Given the description of an element on the screen output the (x, y) to click on. 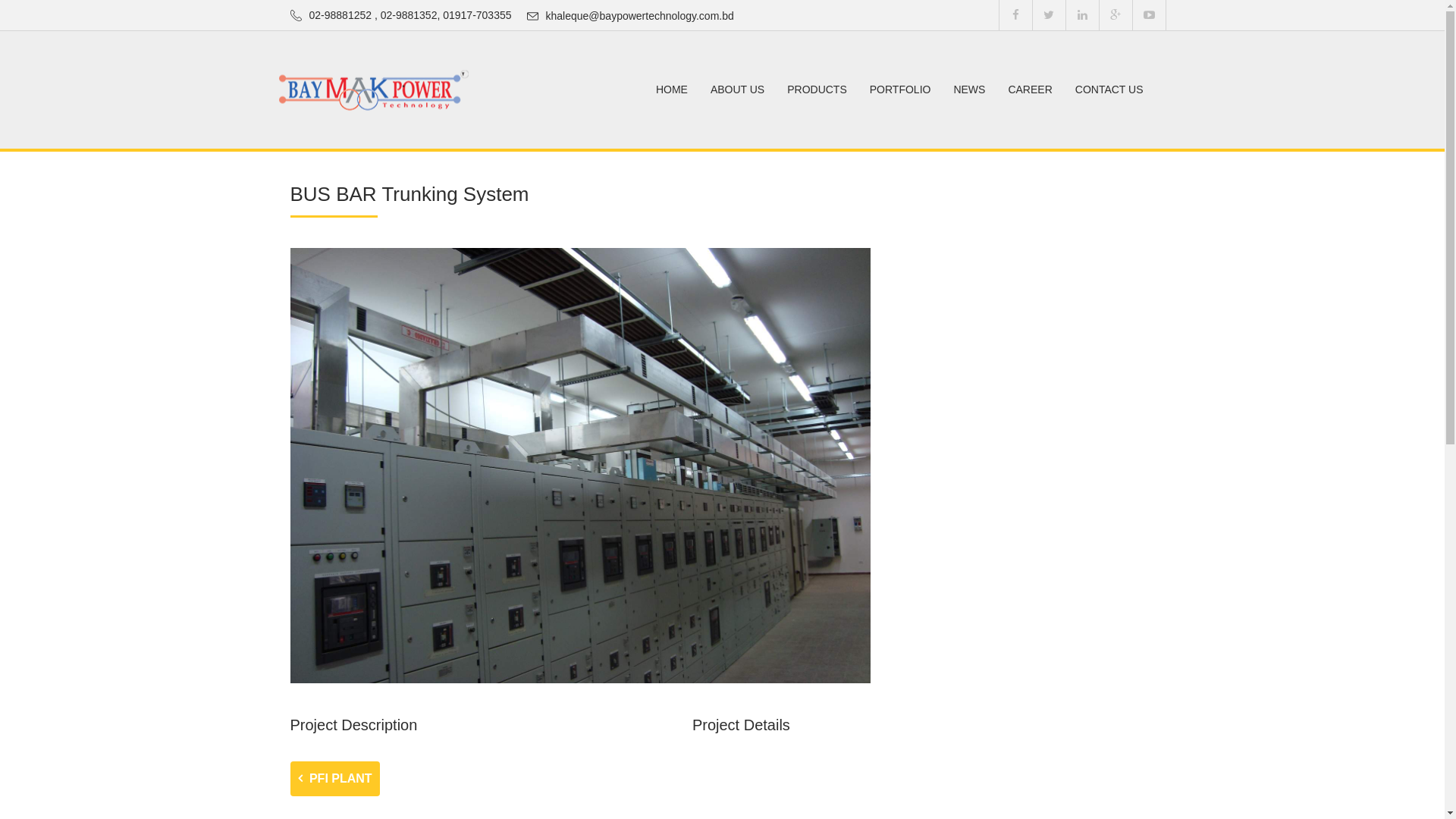
CAREER Element type: text (1029, 89)
ABOUT US Element type: text (737, 89)
khaleque@baypowertechnology.com.bd Element type: text (640, 15)
Customer Satisfaction Element type: hover (373, 89)
PRODUCTS Element type: text (816, 89)
NEWS Element type: text (968, 89)
PORTFOLIO Element type: text (900, 89)
HOME Element type: text (671, 89)
PFI PLANT Element type: text (334, 778)
CONTACT US Element type: text (1108, 89)
